Given the description of an element on the screen output the (x, y) to click on. 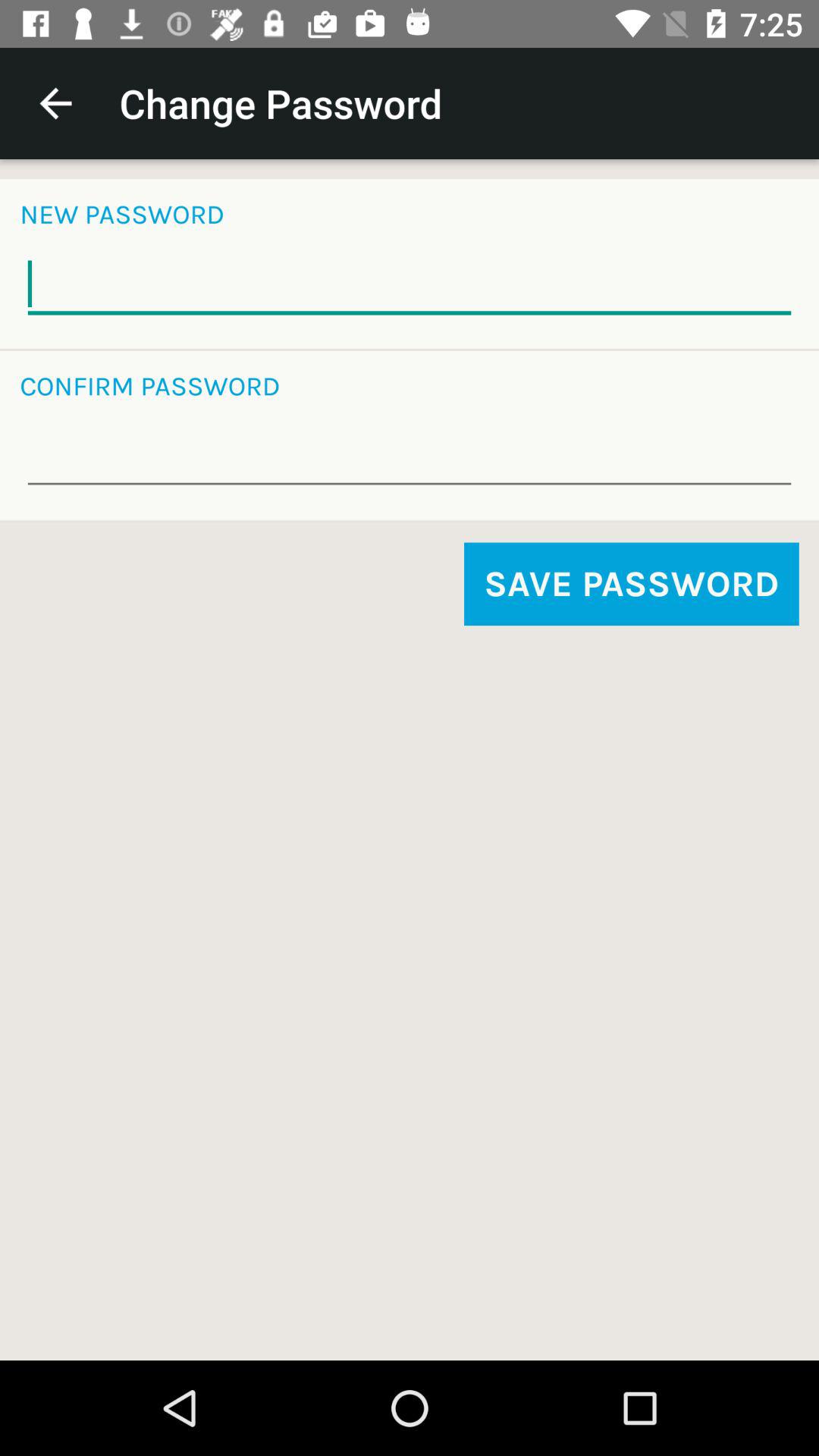
select app next to change password (55, 103)
